Given the description of an element on the screen output the (x, y) to click on. 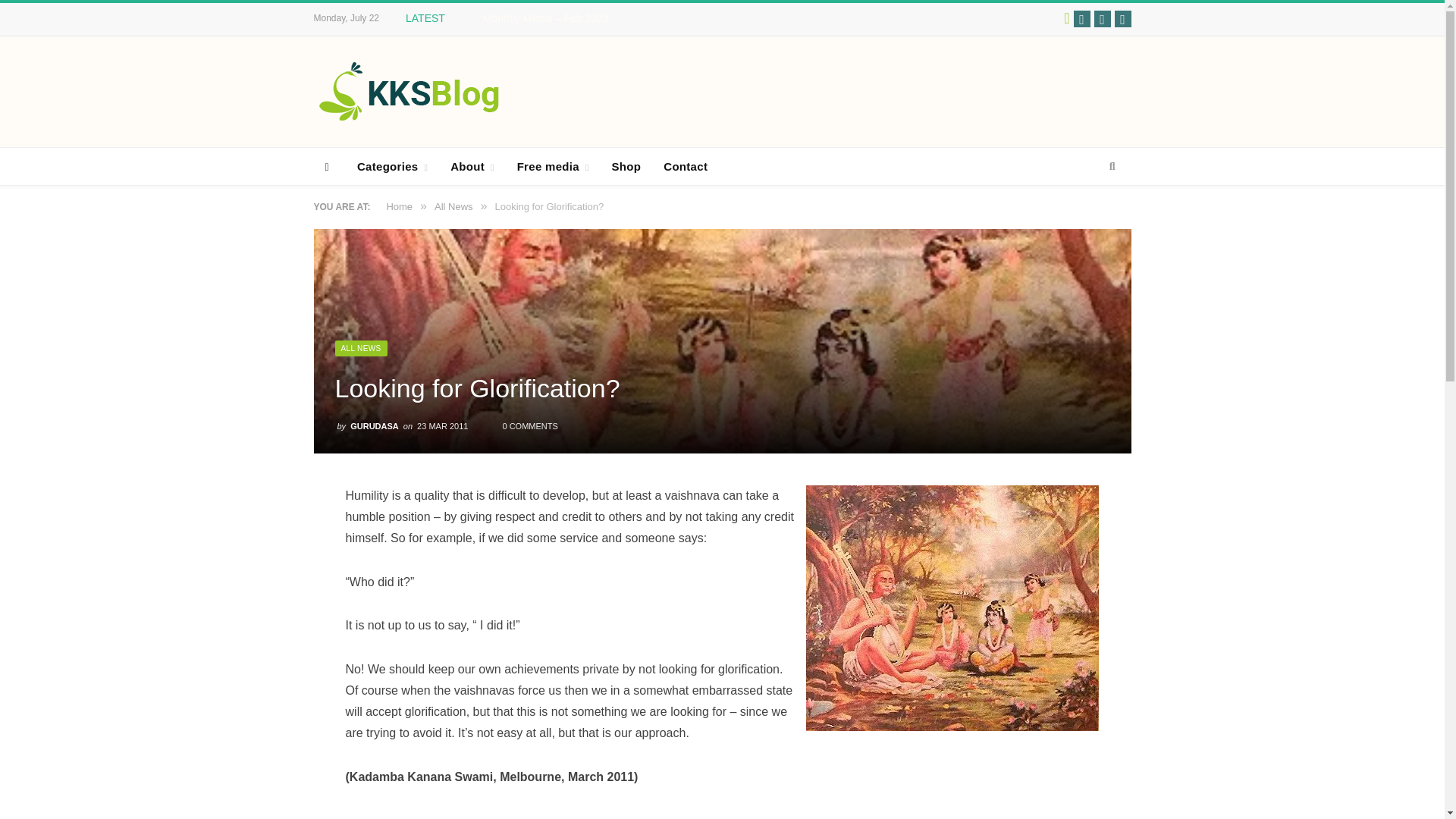
Facebook (1082, 18)
Twitter (1101, 18)
RSS (1123, 18)
Twitter (1101, 18)
Facebook (1082, 18)
RSS (1123, 18)
KKSBlog (408, 91)
Categories (392, 166)
